Given the description of an element on the screen output the (x, y) to click on. 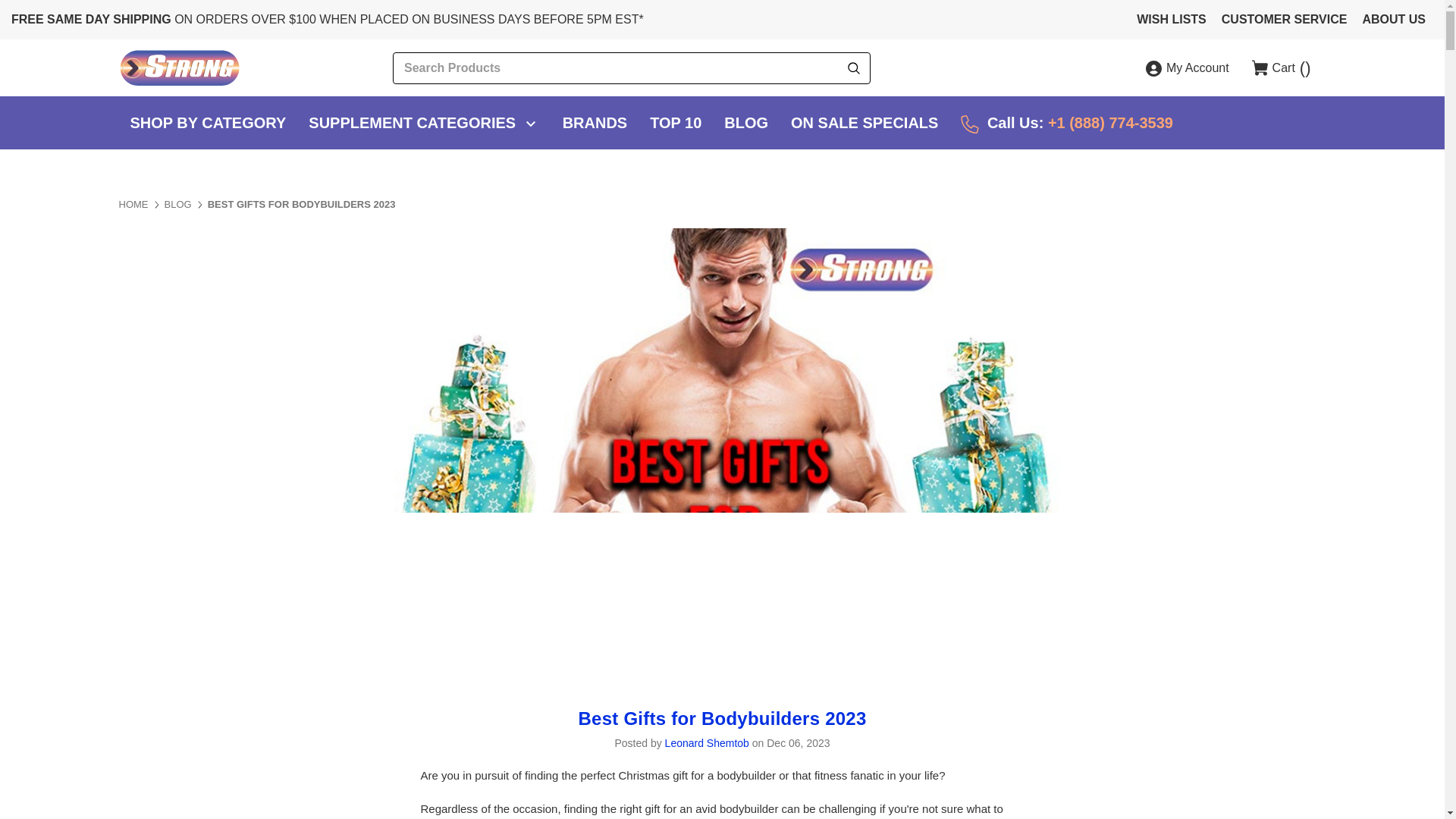
My Account (1187, 68)
ABOUT US (1393, 19)
Search (853, 68)
CUSTOMER SERVICE (1284, 19)
WISH LISTS (1171, 19)
Strong Supplement Shop (178, 67)
